Given the description of an element on the screen output the (x, y) to click on. 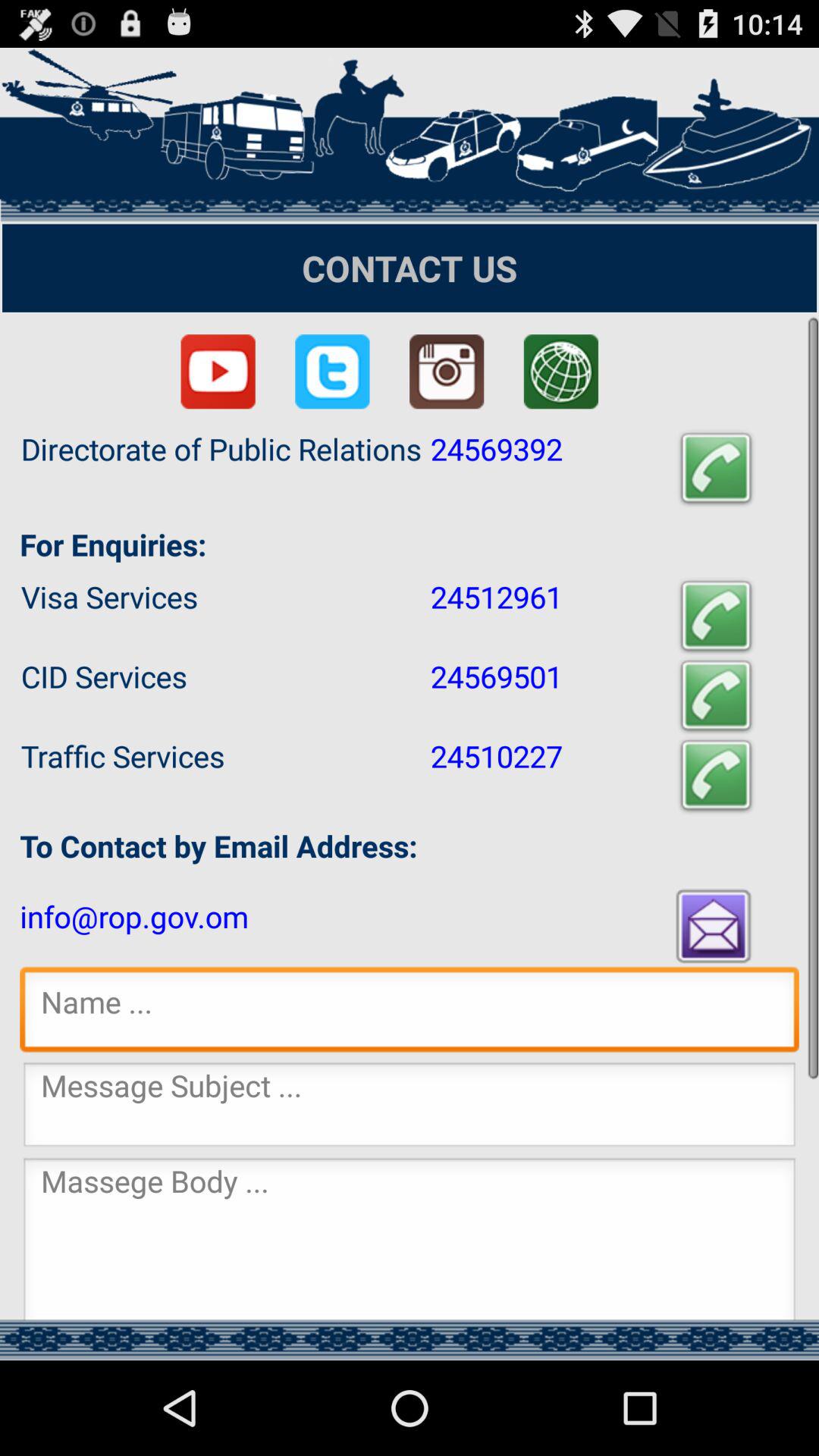
see twitter (332, 371)
